Given the description of an element on the screen output the (x, y) to click on. 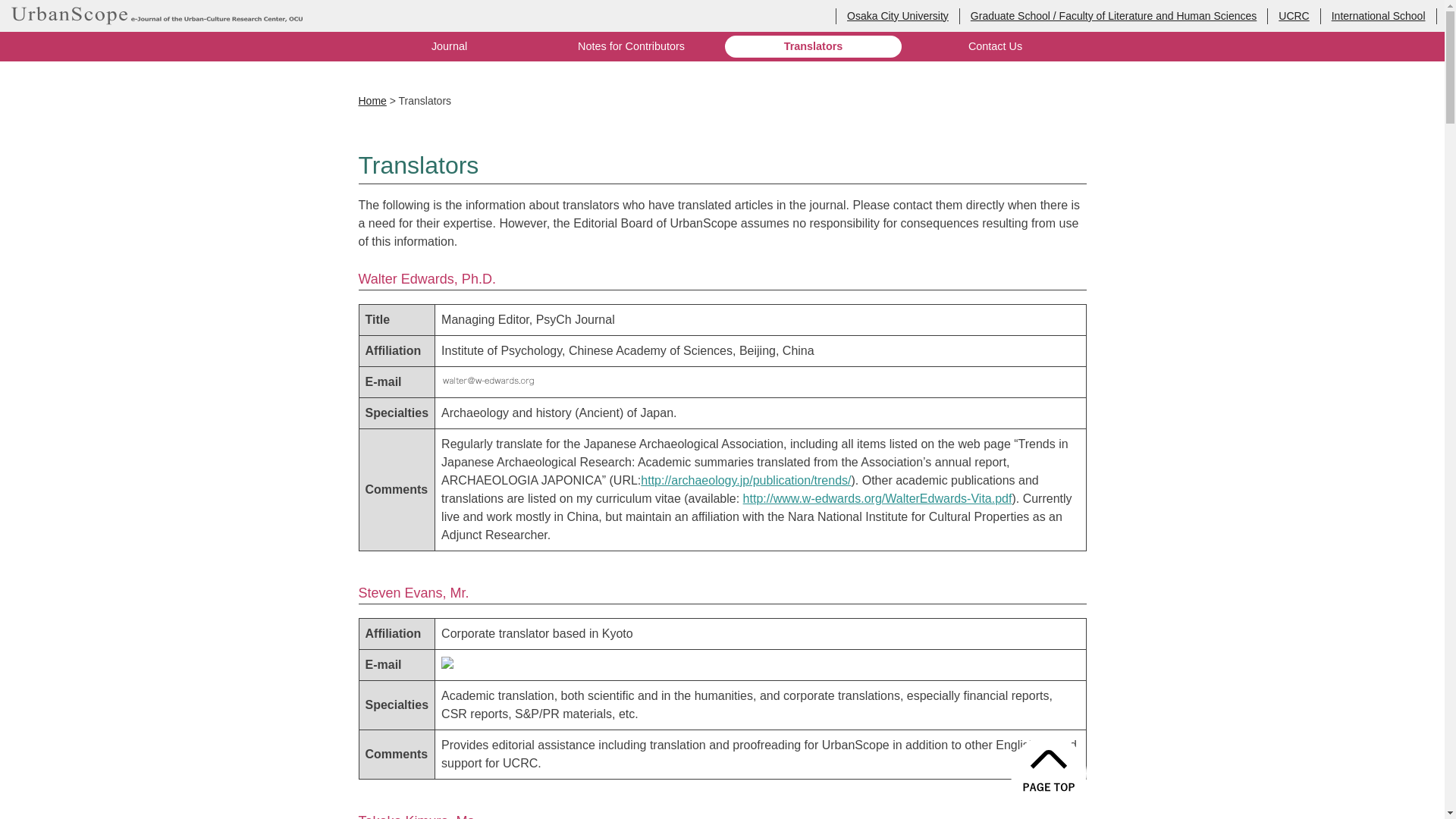
Home (371, 101)
Translators (813, 46)
Notes for Contributors (631, 46)
International School (1378, 15)
Contact Us (995, 46)
Go to UrbanScope. (371, 101)
Journal (449, 46)
UCRC (1293, 15)
Osaka City University (898, 15)
